Given the description of an element on the screen output the (x, y) to click on. 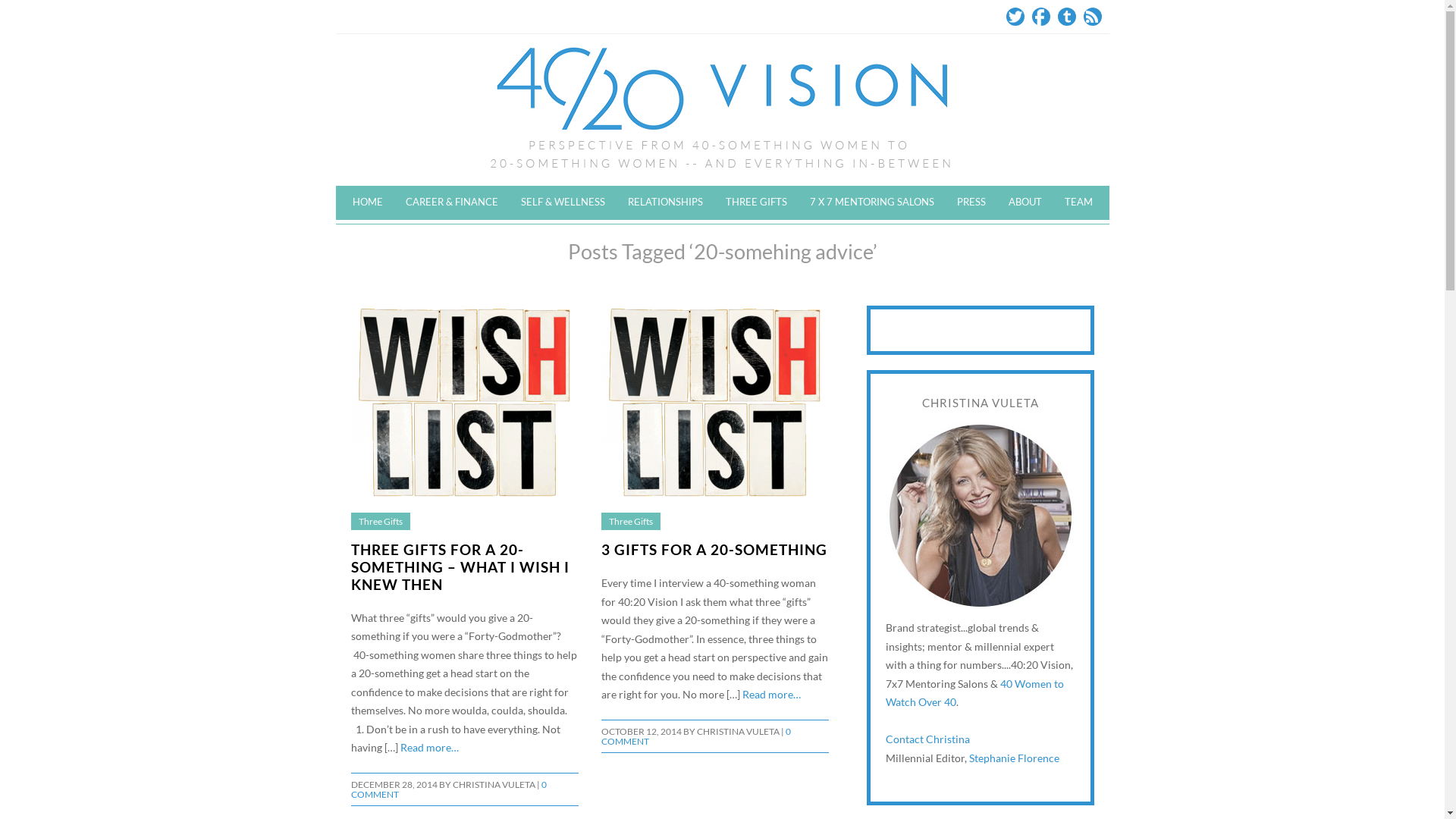
ABOUT Element type: text (1024, 201)
HOME Element type: text (367, 201)
7 X 7 MENTORING SALONS Element type: text (870, 201)
40:20 Vision Element type: hover (721, 109)
0 COMMENT Element type: text (448, 789)
0 COMMENT Element type: text (695, 736)
TEAM Element type: text (1077, 201)
RELATIONSHIPS Element type: text (664, 201)
Stephanie Florence Element type: text (1014, 758)
Contact Christina Element type: text (927, 739)
Three Gifts Element type: text (379, 521)
Twitter Element type: text (1014, 16)
Tumblr Element type: text (1066, 16)
3 GIFTS FOR A 20-SOMETHING Element type: text (713, 549)
PRESS Element type: text (970, 201)
40 Women to Watch Over 40 Element type: text (974, 692)
Facebook Element type: text (1040, 16)
RSS Feed Element type: text (1091, 16)
CAREER & FINANCE Element type: text (451, 201)
SELF & WELLNESS Element type: text (562, 201)
Three Gifts Element type: text (630, 521)
THREE GIFTS Element type: text (756, 201)
